Given the description of an element on the screen output the (x, y) to click on. 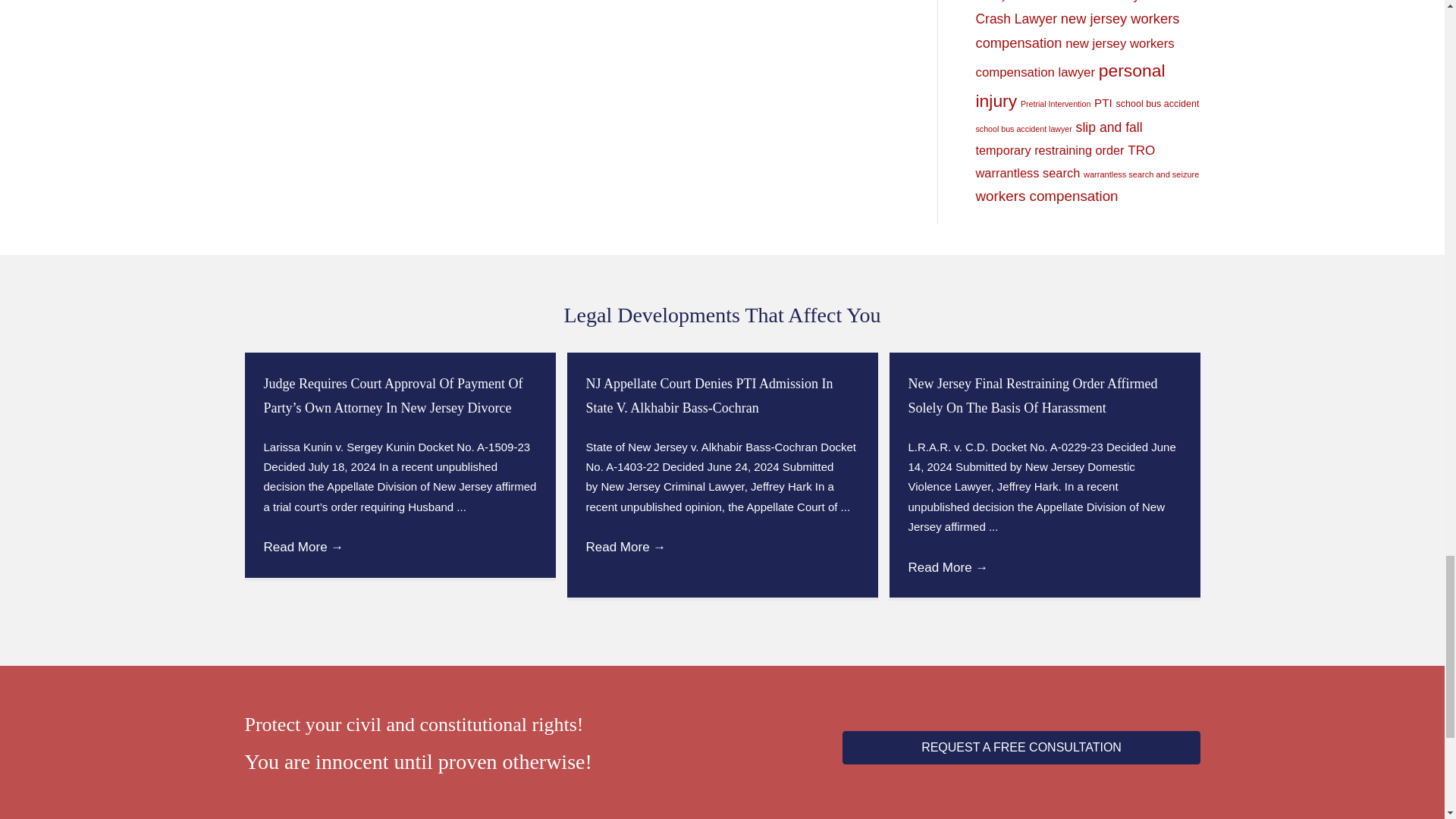
Read More (625, 546)
Read More (948, 567)
Read More (303, 546)
